Given the description of an element on the screen output the (x, y) to click on. 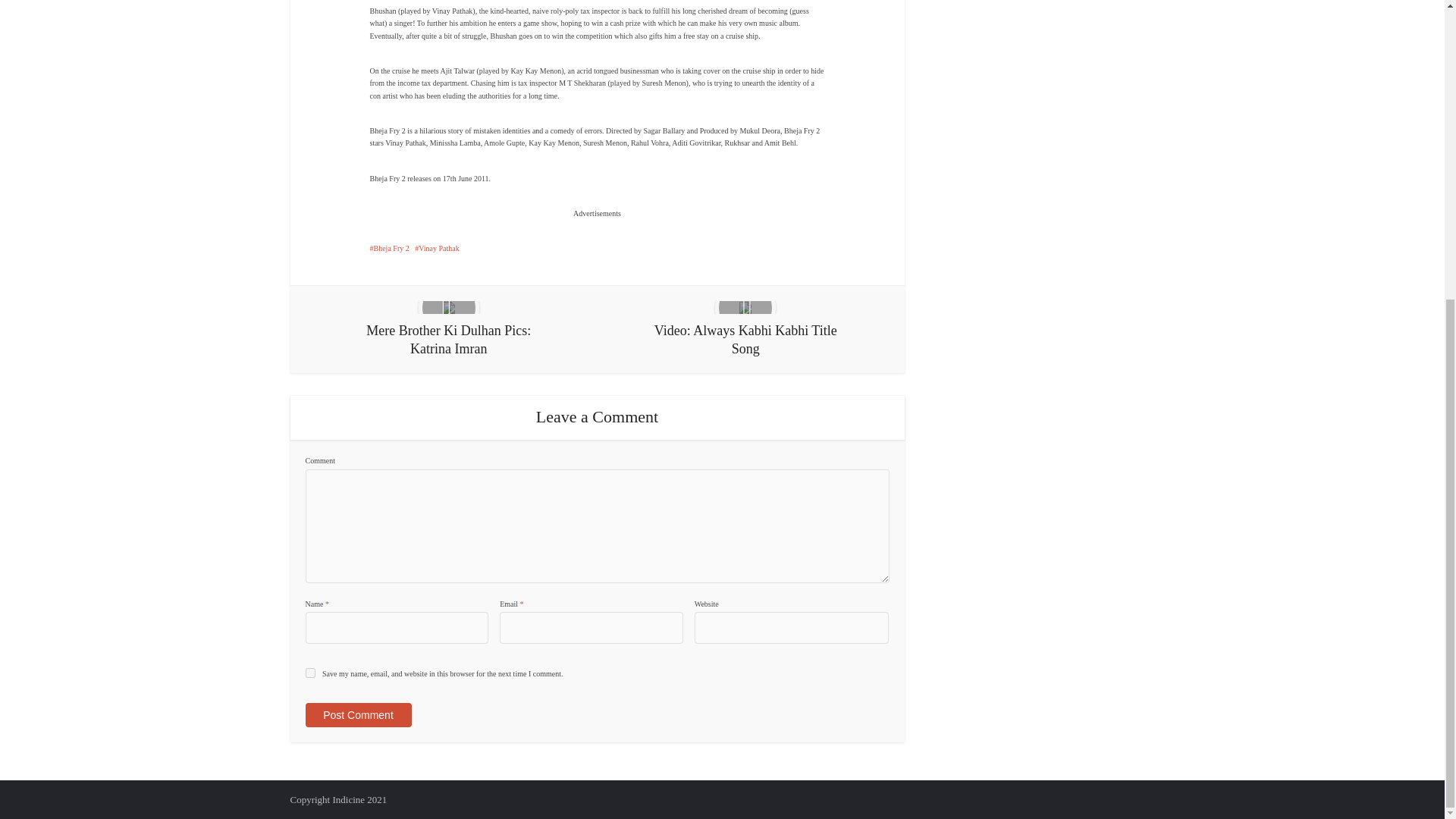
Vinay Pathak (437, 248)
Post Comment (357, 714)
Bheja Fry 2 (389, 248)
yes (309, 673)
Video: Always Kabhi Kabhi Title Song (745, 329)
Mere Brother Ki Dulhan Pics: Katrina Imran (449, 329)
Post Comment (357, 714)
